Given the description of an element on the screen output the (x, y) to click on. 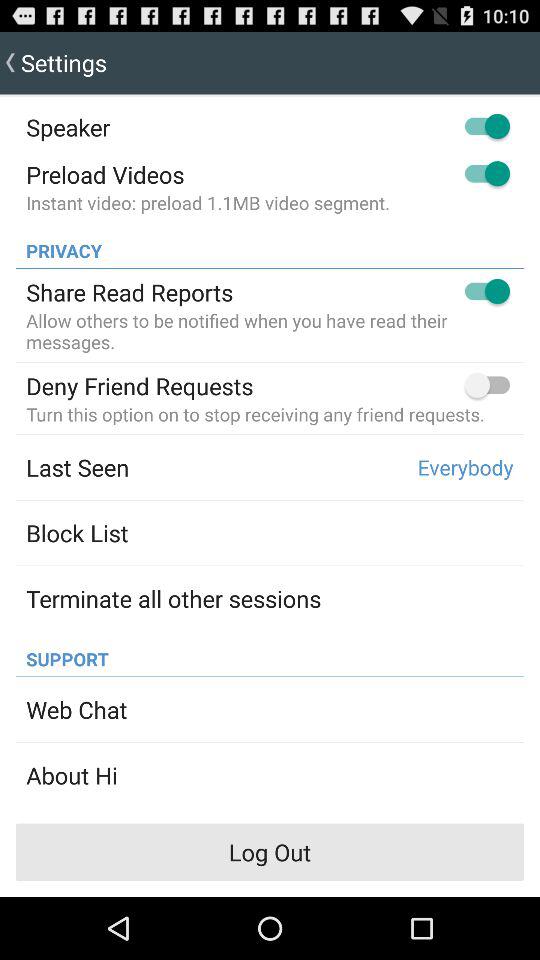
flip to the allow others to (269, 331)
